Given the description of an element on the screen output the (x, y) to click on. 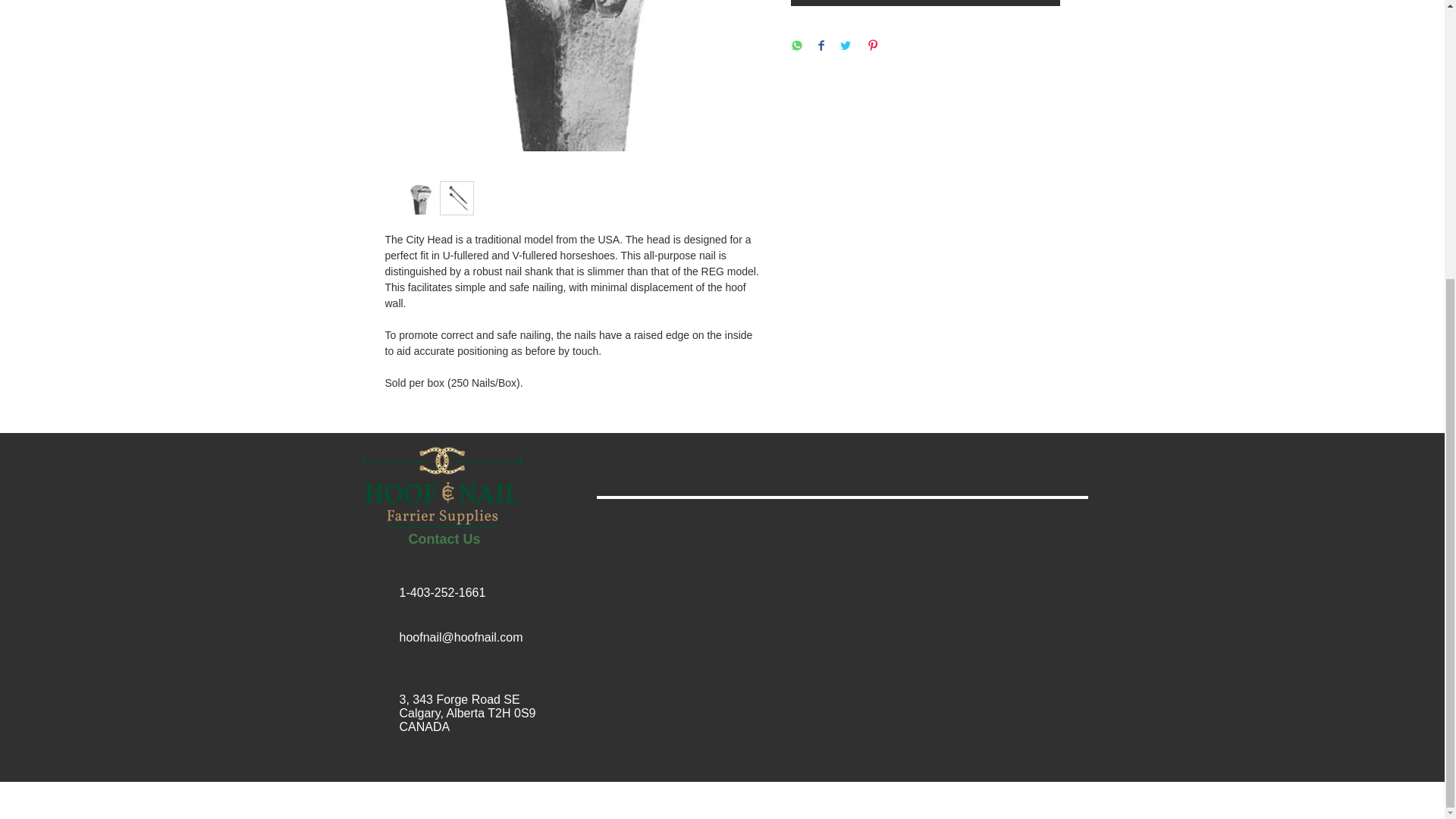
Buy Now (924, 2)
